Given the description of an element on the screen output the (x, y) to click on. 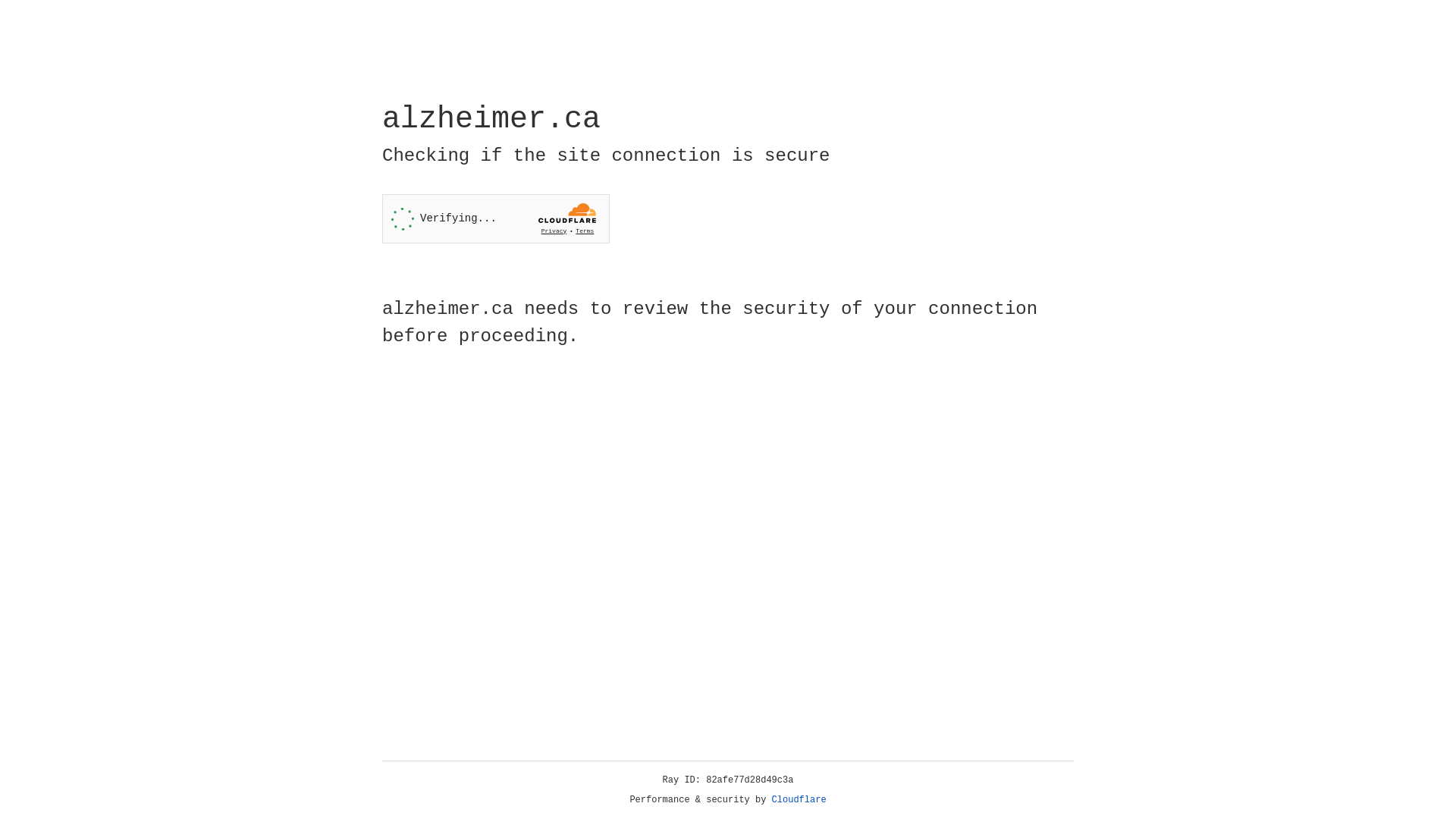
Widget containing a Cloudflare security challenge Element type: hover (495, 218)
Cloudflare Element type: text (798, 799)
